Given the description of an element on the screen output the (x, y) to click on. 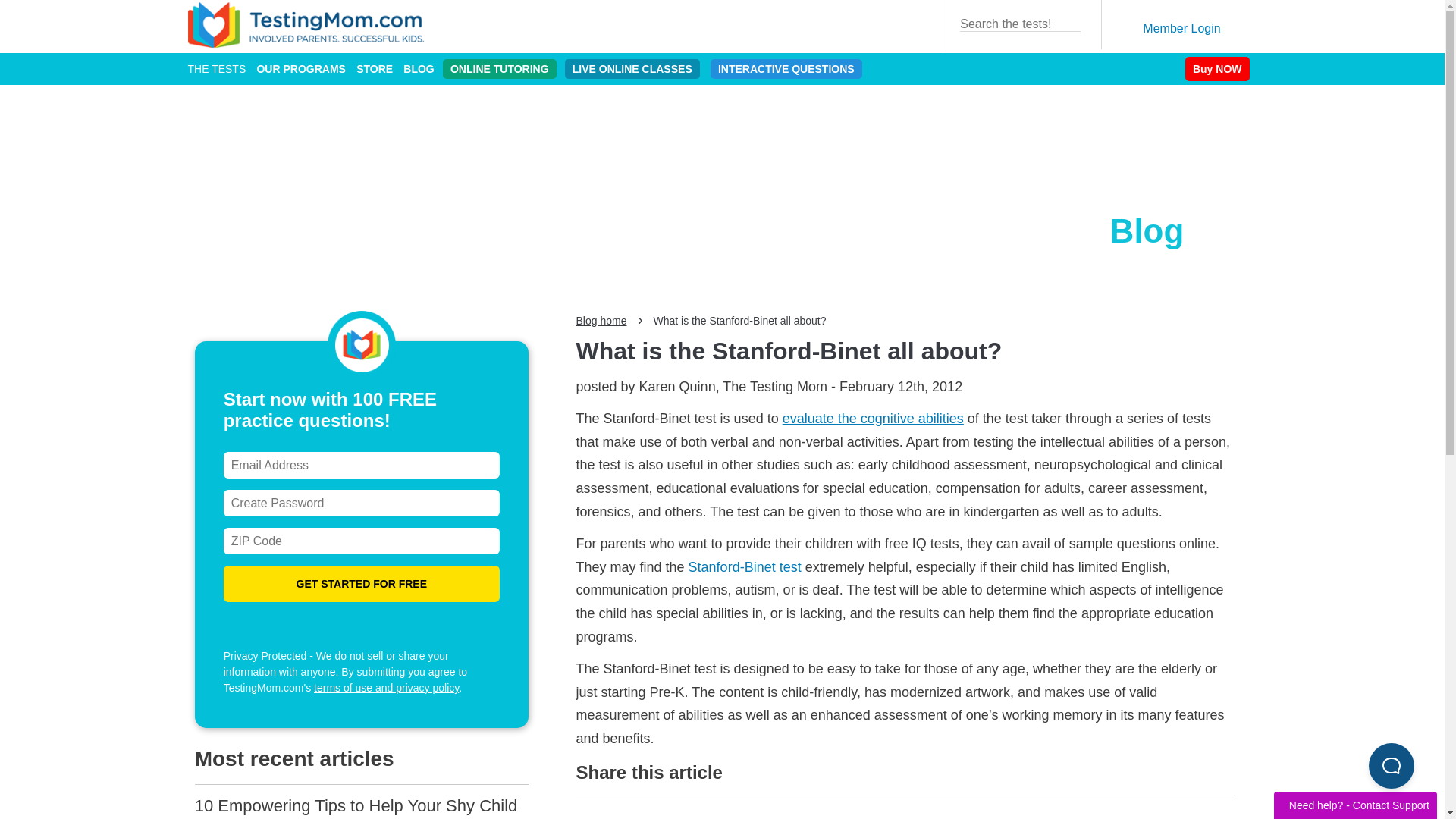
Stanford-Binet test (745, 566)
OUR PROGRAMS (300, 69)
INTERACTIVE QUESTIONS (785, 68)
THE TESTS (216, 69)
evaluate the cognitive abilities (873, 418)
Blog home (601, 320)
BLOG (418, 69)
Buy NOW (1217, 68)
ONLINE TUTORING (499, 68)
STORE (374, 69)
